Given the description of an element on the screen output the (x, y) to click on. 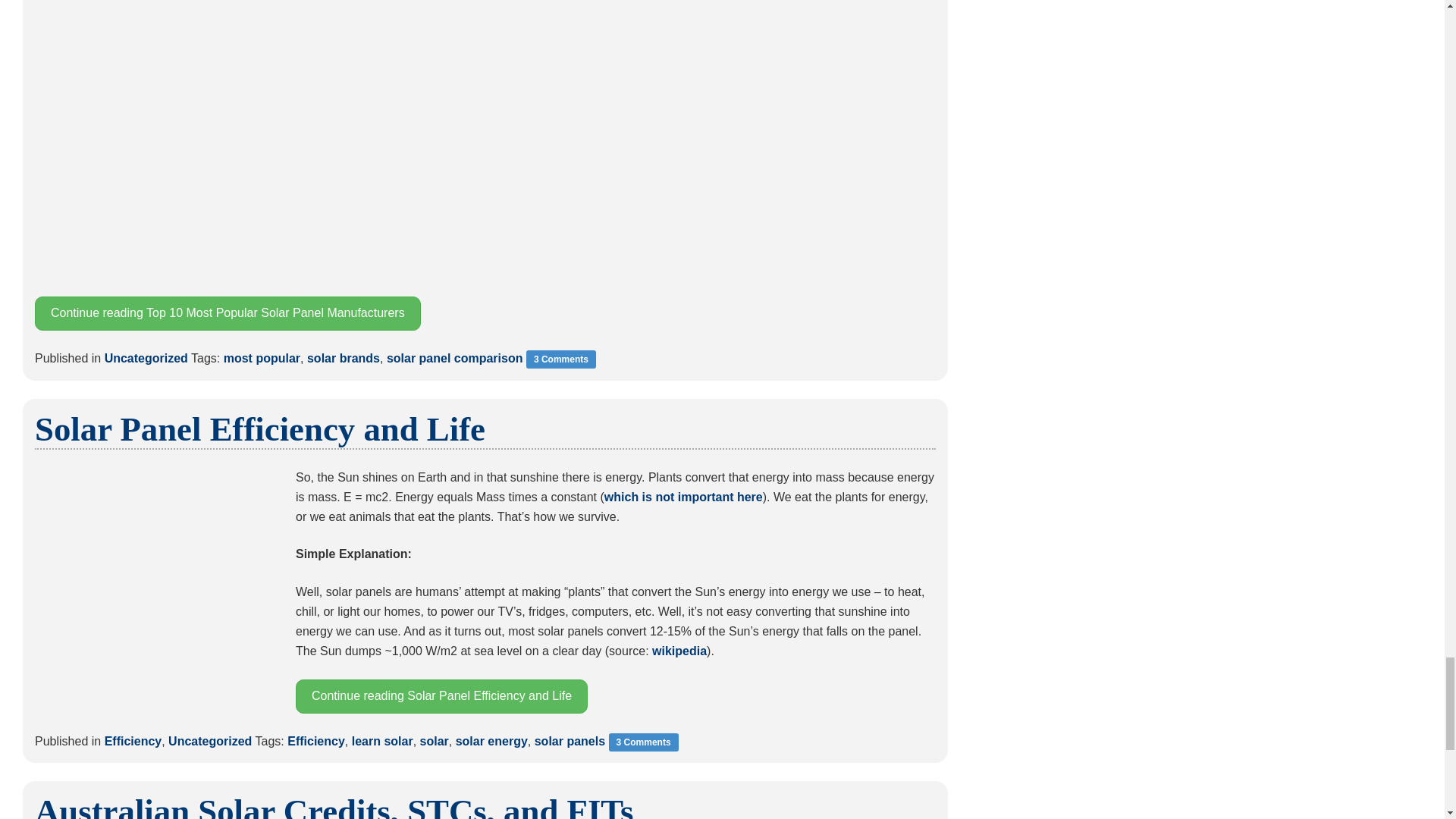
10 Most Popular Solar Panel Manufacturers (485, 139)
Solar Flower of Life (156, 588)
Wiki: solar insolation (679, 650)
